Given the description of an element on the screen output the (x, y) to click on. 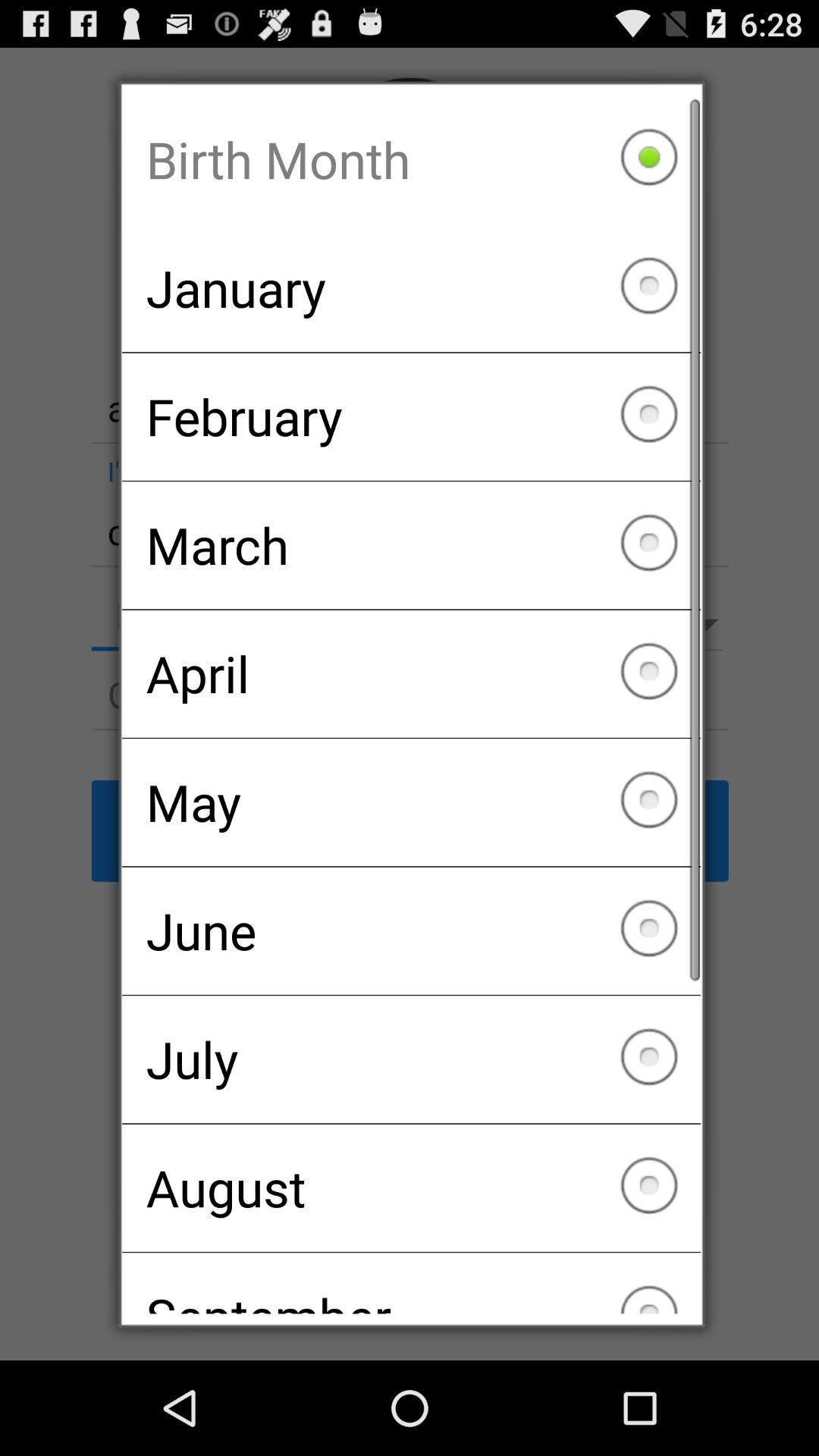
turn off icon above april (411, 545)
